Given the description of an element on the screen output the (x, y) to click on. 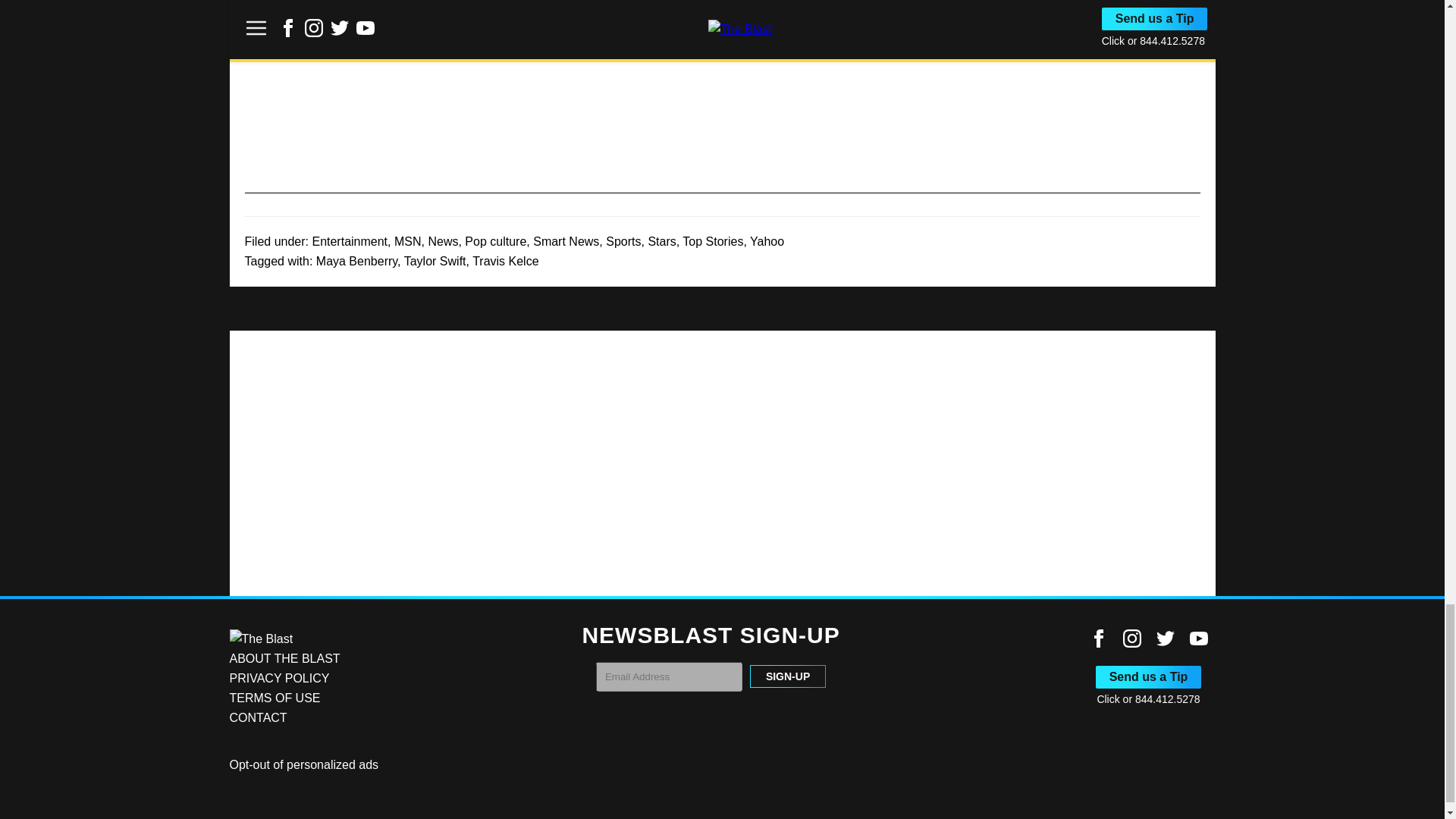
News (443, 241)
Link to Facebook (1097, 638)
Pop culture (494, 241)
Sports (622, 241)
Top Stories (712, 241)
Entertainment (349, 241)
Link to Youtube (1198, 638)
Link to Instagram (1131, 638)
MSN (408, 241)
Link to Twitter (1164, 638)
Maya Benberry (356, 260)
Smart News (565, 241)
Yahoo (766, 241)
SIGN-UP (787, 676)
Stars (661, 241)
